Given the description of an element on the screen output the (x, y) to click on. 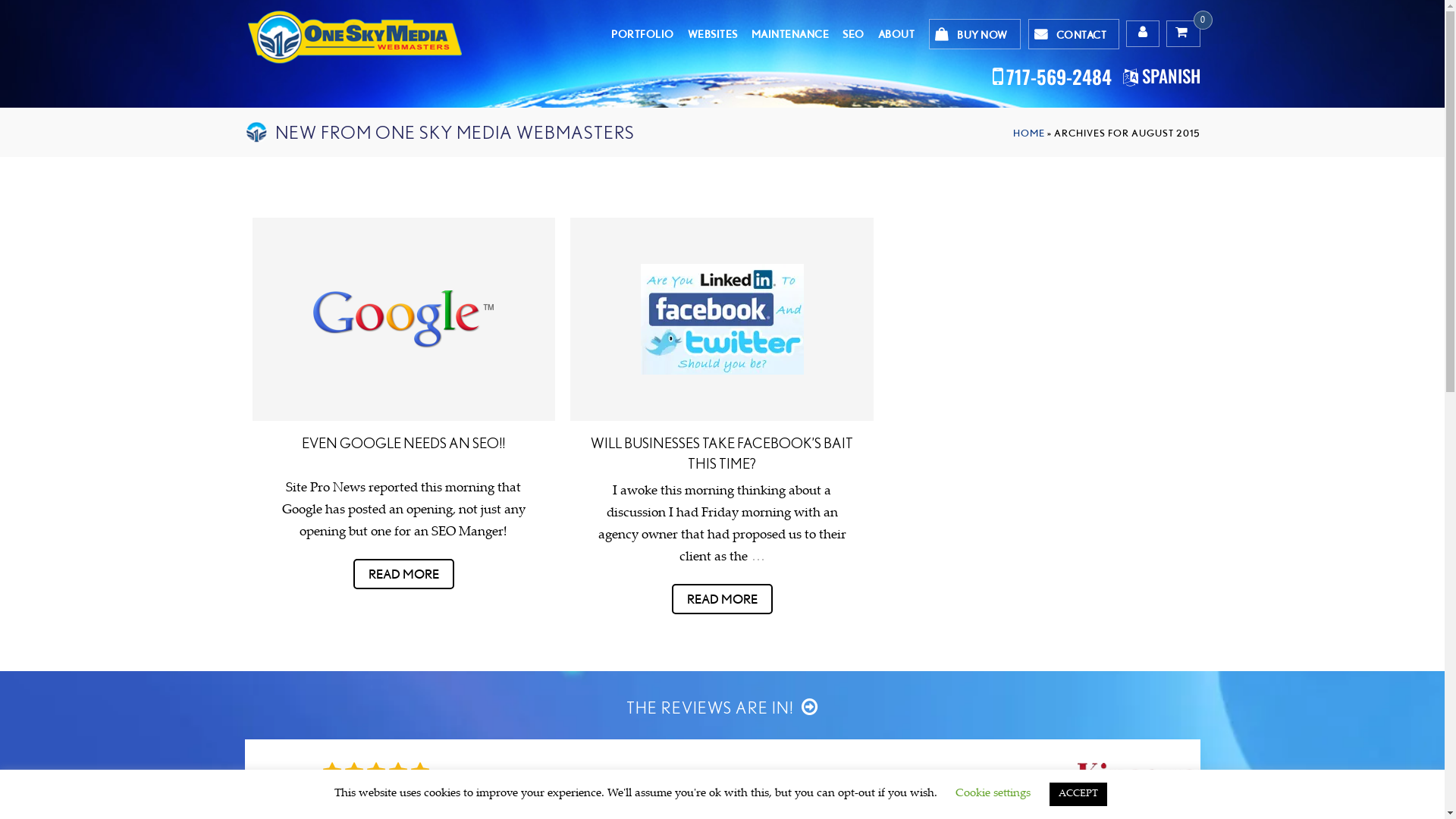
CONTACT Element type: text (1074, 33)
READ MORE Element type: text (403, 573)
ACCEPT Element type: text (1078, 794)
READ MORE Element type: text (721, 598)
SEO Element type: text (853, 33)
PORTFOLIO Element type: text (642, 33)
Even Google needs an SEO!! Element type: hover (403, 318)
THE REVIEWS ARE IN! Element type: text (722, 707)
ABOUT Element type: text (896, 33)
SPANISH Element type: text (1171, 75)
717-569-2484 Element type: text (1057, 76)
EVEN GOOGLE NEEDS AN SEO!! Element type: text (403, 442)
0 Items Element type: text (1182, 33)
HOME Element type: text (1028, 132)
Cookie settings Element type: text (992, 793)
WEBSITES Element type: text (712, 33)
MAINTENANCE Element type: text (790, 33)
BUY NOW Element type: text (974, 33)
